Given the description of an element on the screen output the (x, y) to click on. 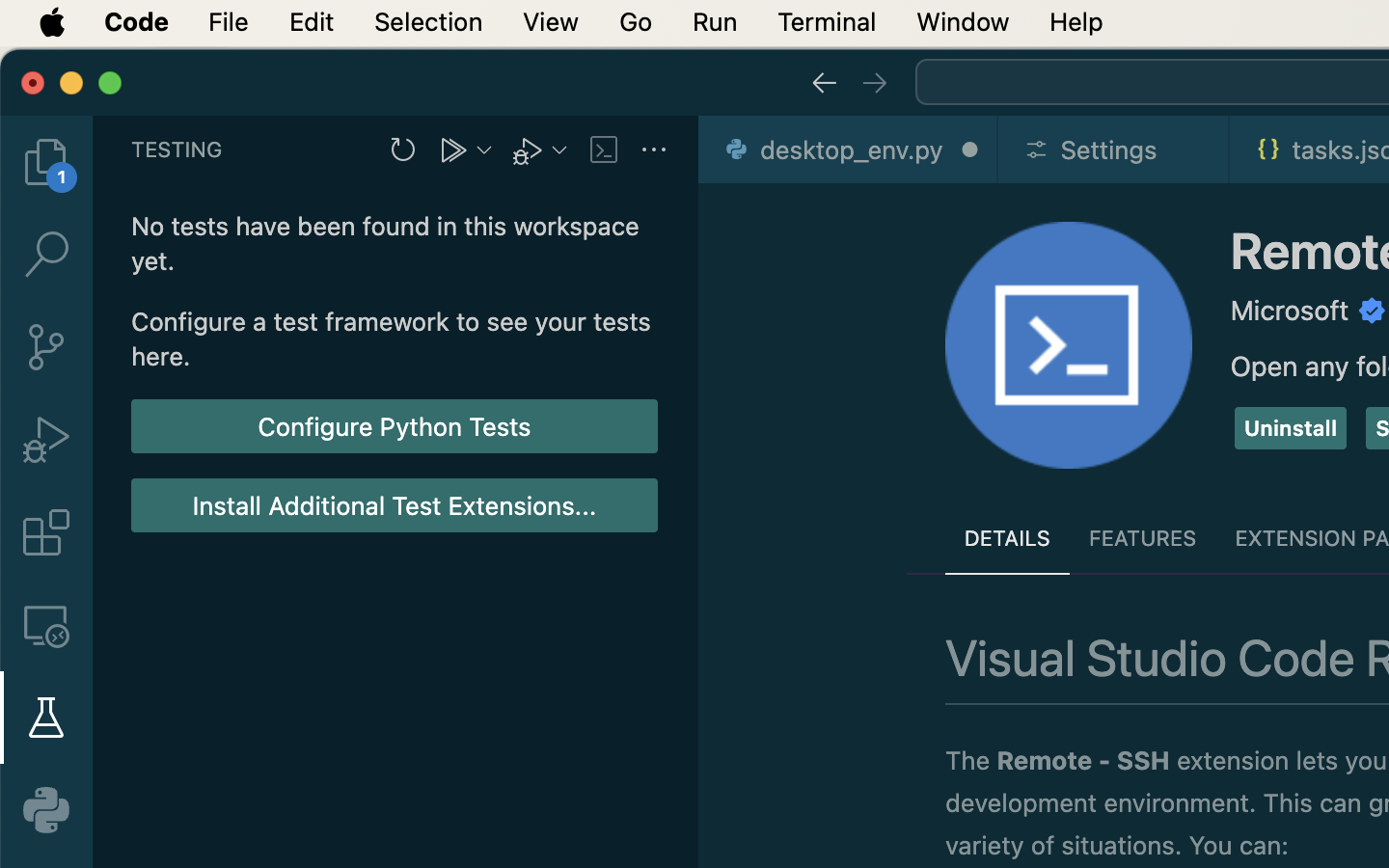
0  Element type: AXRadioButton (46, 254)
0 Element type: AXRadioButton (46, 809)
